Given the description of an element on the screen output the (x, y) to click on. 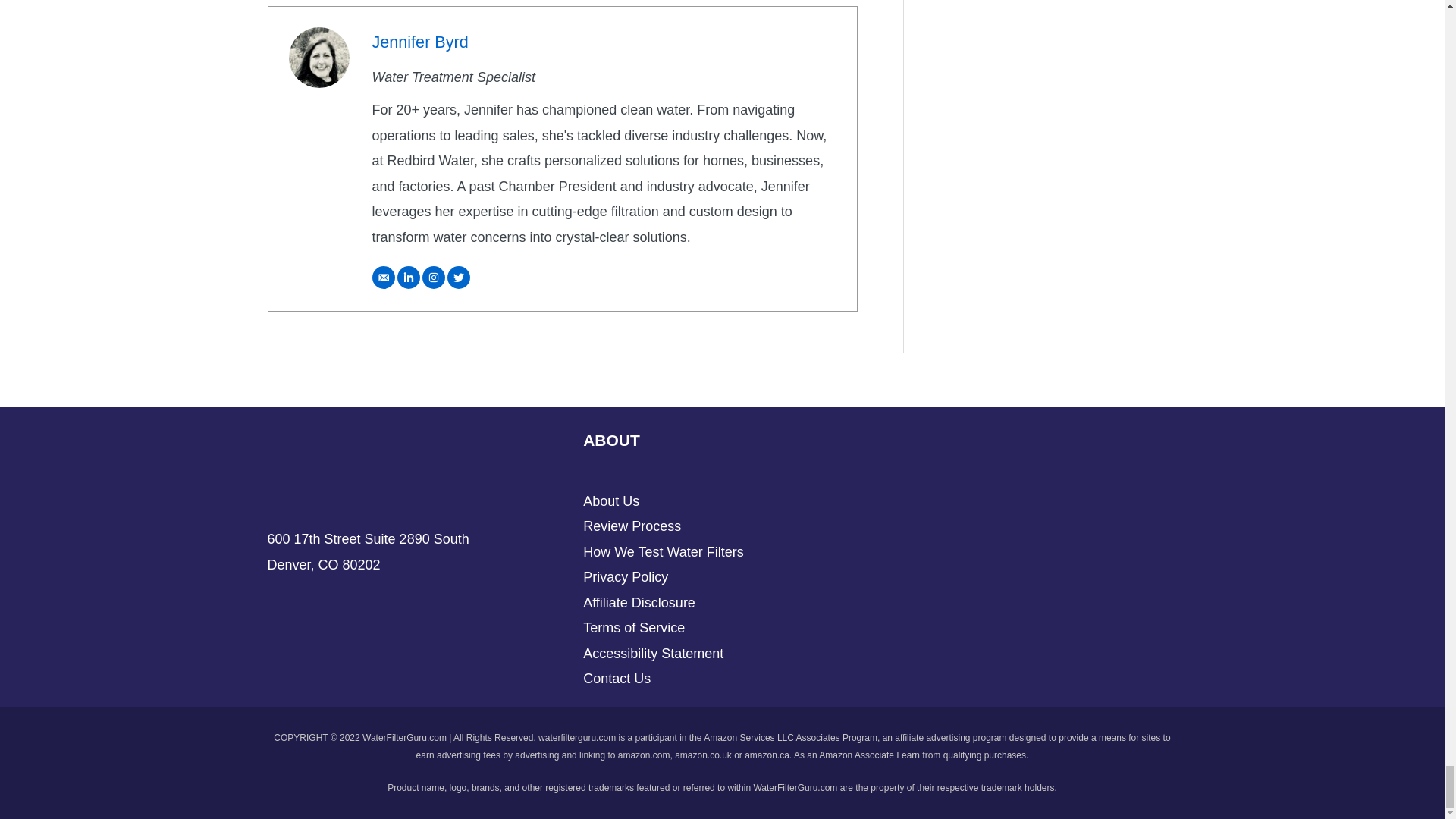
Privacy Policy (625, 576)
Jennifer Byrd (318, 57)
About Us (611, 500)
Affiliate Disclosure (639, 602)
DMCA.com Protection Status (937, 539)
Contact Us (616, 678)
Jennifer Byrd (419, 41)
